Given the description of an element on the screen output the (x, y) to click on. 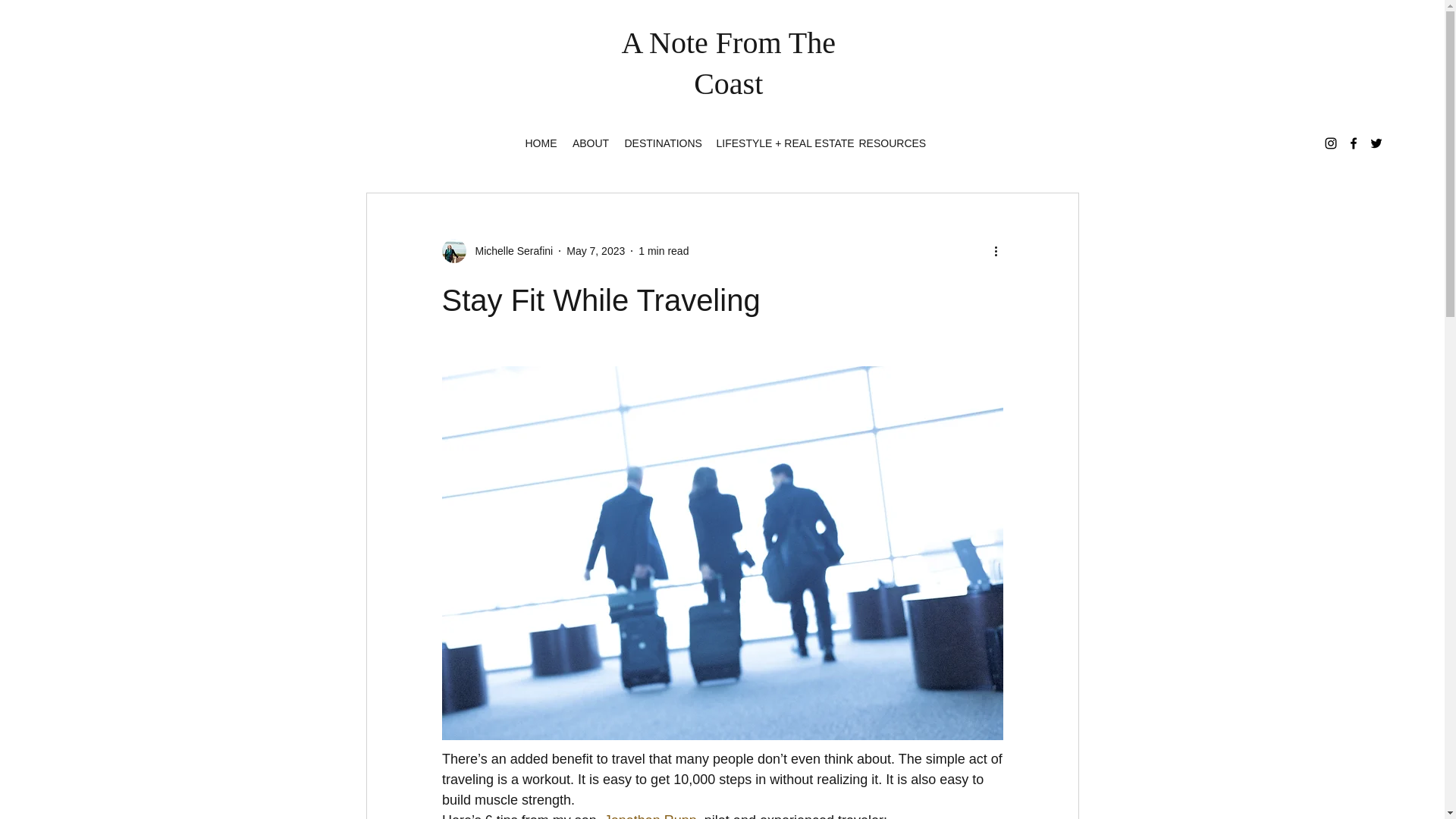
May 7, 2023 (595, 250)
RESOURCES (888, 142)
1 min read (663, 250)
A Note From The Coast (728, 62)
DESTINATIONS (663, 142)
Michelle Serafini (509, 250)
HOME (540, 142)
ABOUT (589, 142)
Michelle Serafini (497, 250)
Jonathan Rupp (649, 816)
